Given the description of an element on the screen output the (x, y) to click on. 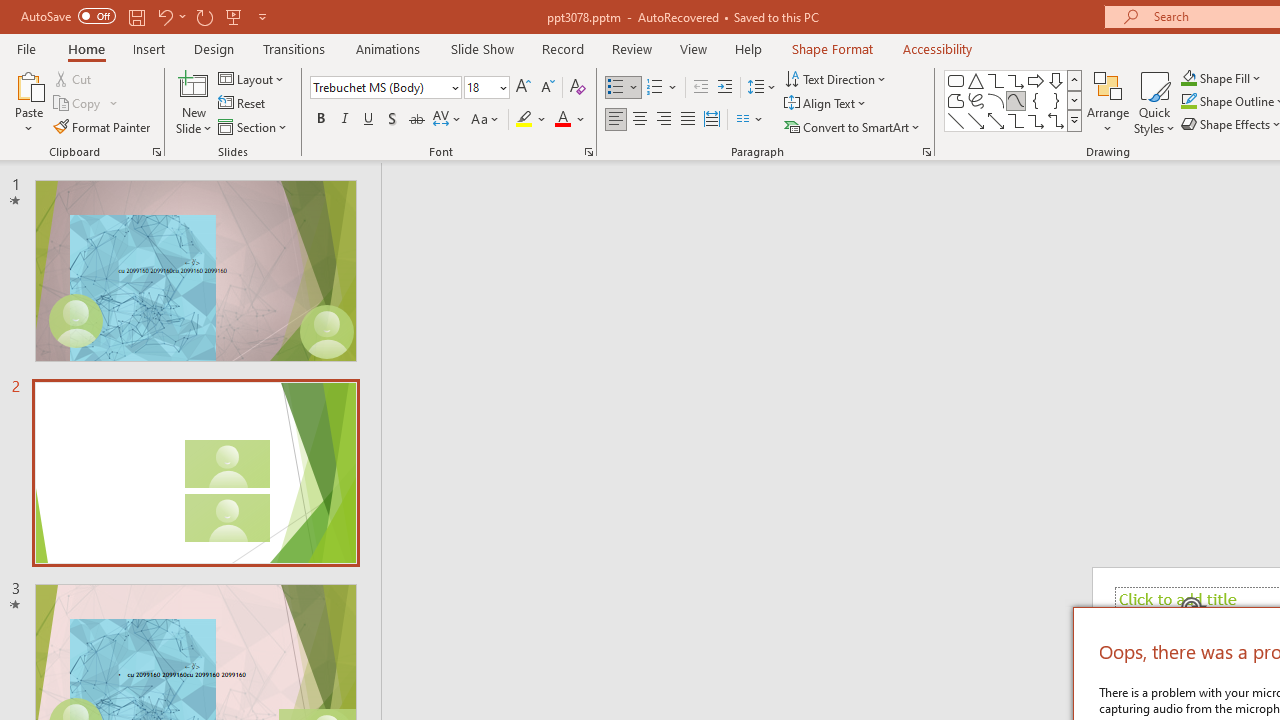
Line Arrow: Double (995, 120)
